Given the description of an element on the screen output the (x, y) to click on. 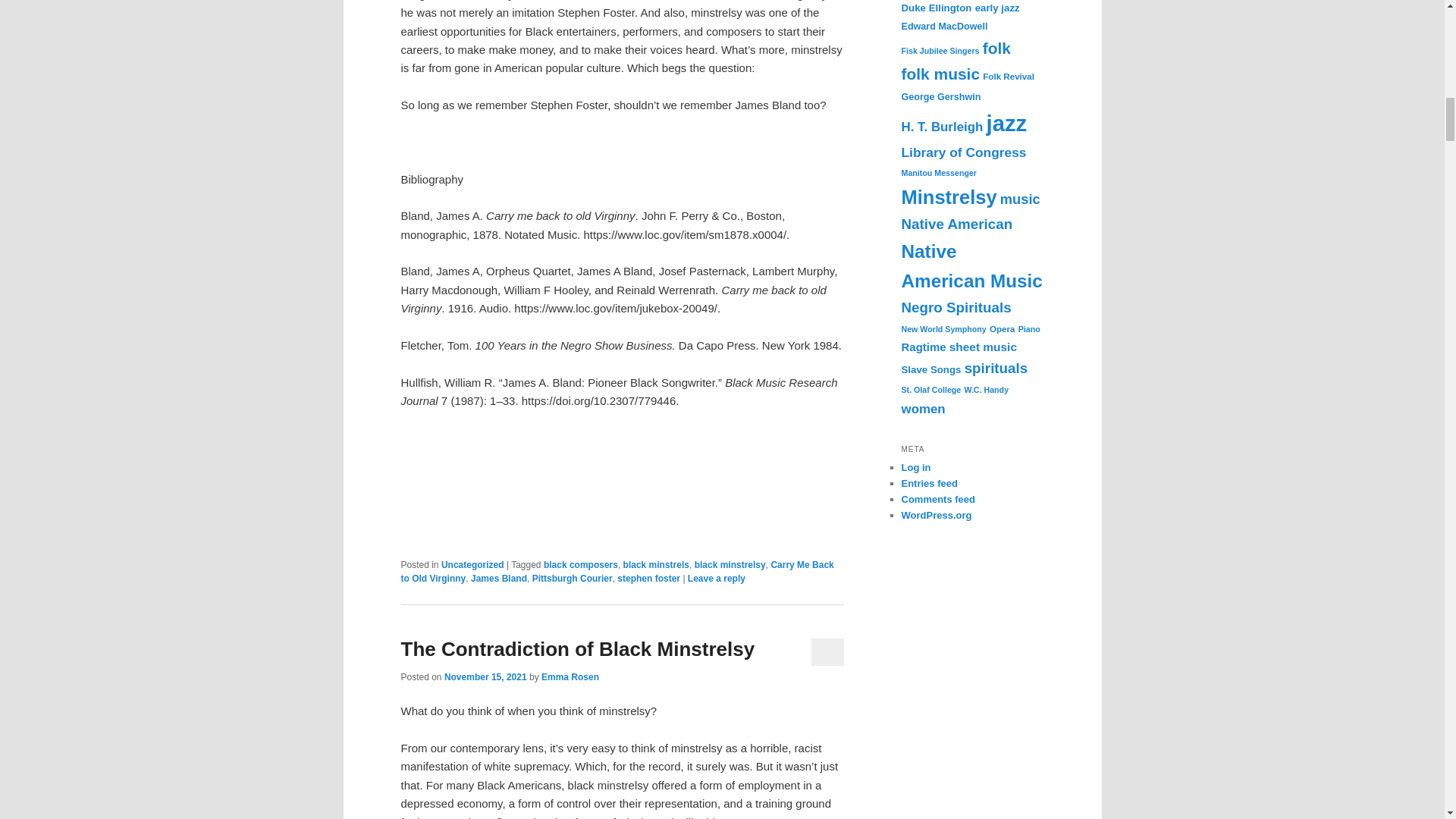
black minstrelsy (729, 564)
stephen foster (648, 578)
November 15, 2021 (485, 676)
Emma Rosen (569, 676)
The Contradiction of Black Minstrelsy (577, 649)
View all posts by Emma Rosen (569, 676)
Uncategorized (472, 564)
Leave a reply (716, 578)
Carry Me Back to Old Virginny (616, 571)
black composers (580, 564)
